Given the description of an element on the screen output the (x, y) to click on. 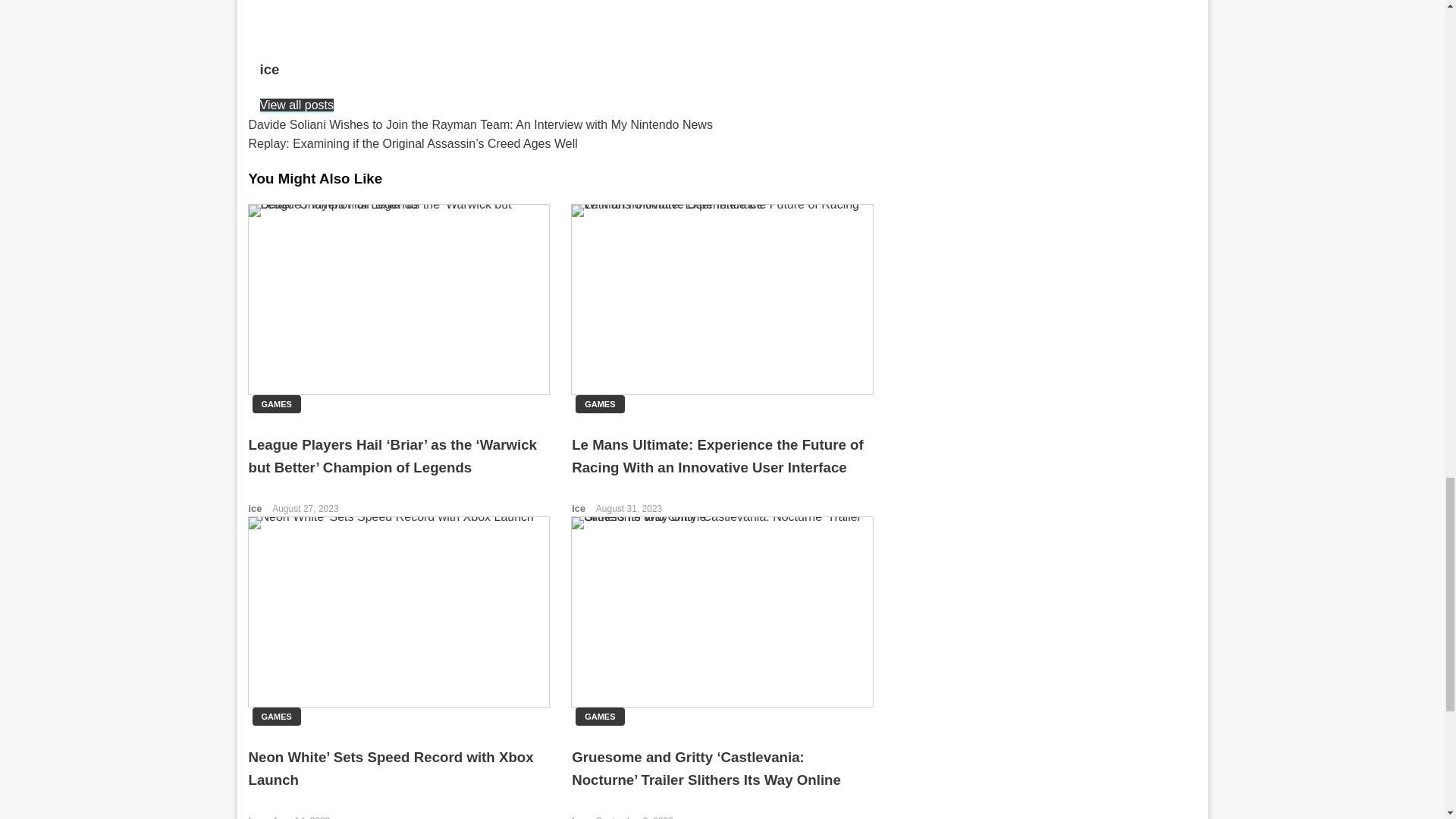
ice (256, 816)
ice (256, 508)
GAMES (599, 716)
ice (559, 69)
ice (580, 816)
ice (559, 69)
ice (580, 508)
GAMES (275, 716)
GAMES (275, 403)
